Given the description of an element on the screen output the (x, y) to click on. 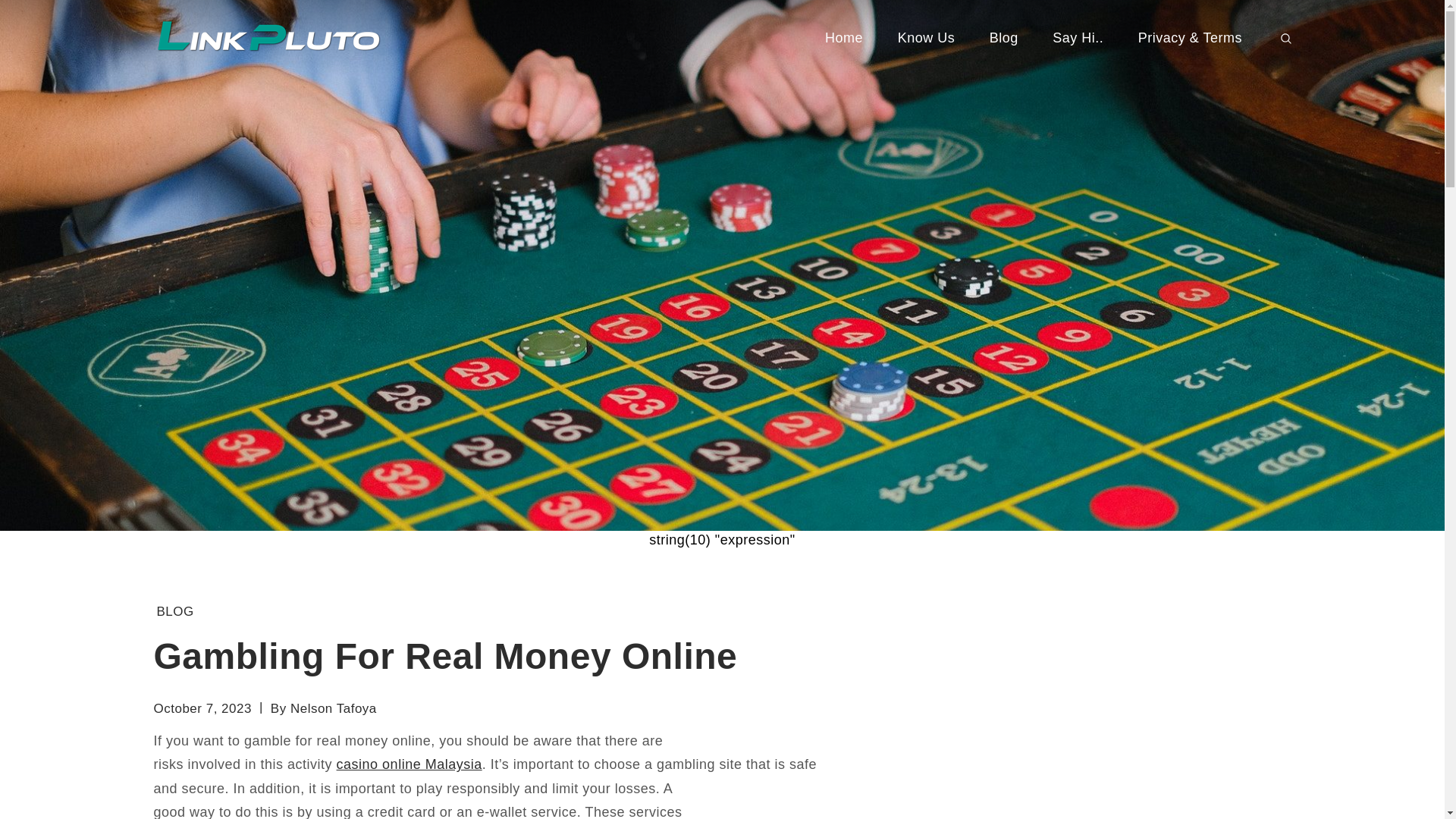
Nelson Tafoya (333, 708)
BLOG (174, 611)
Know Us (926, 38)
casino online Malaysia (408, 764)
LinkPluto (467, 52)
Say Hi.. (1077, 38)
Home (843, 38)
October 7, 2023 (201, 708)
